Given the description of an element on the screen output the (x, y) to click on. 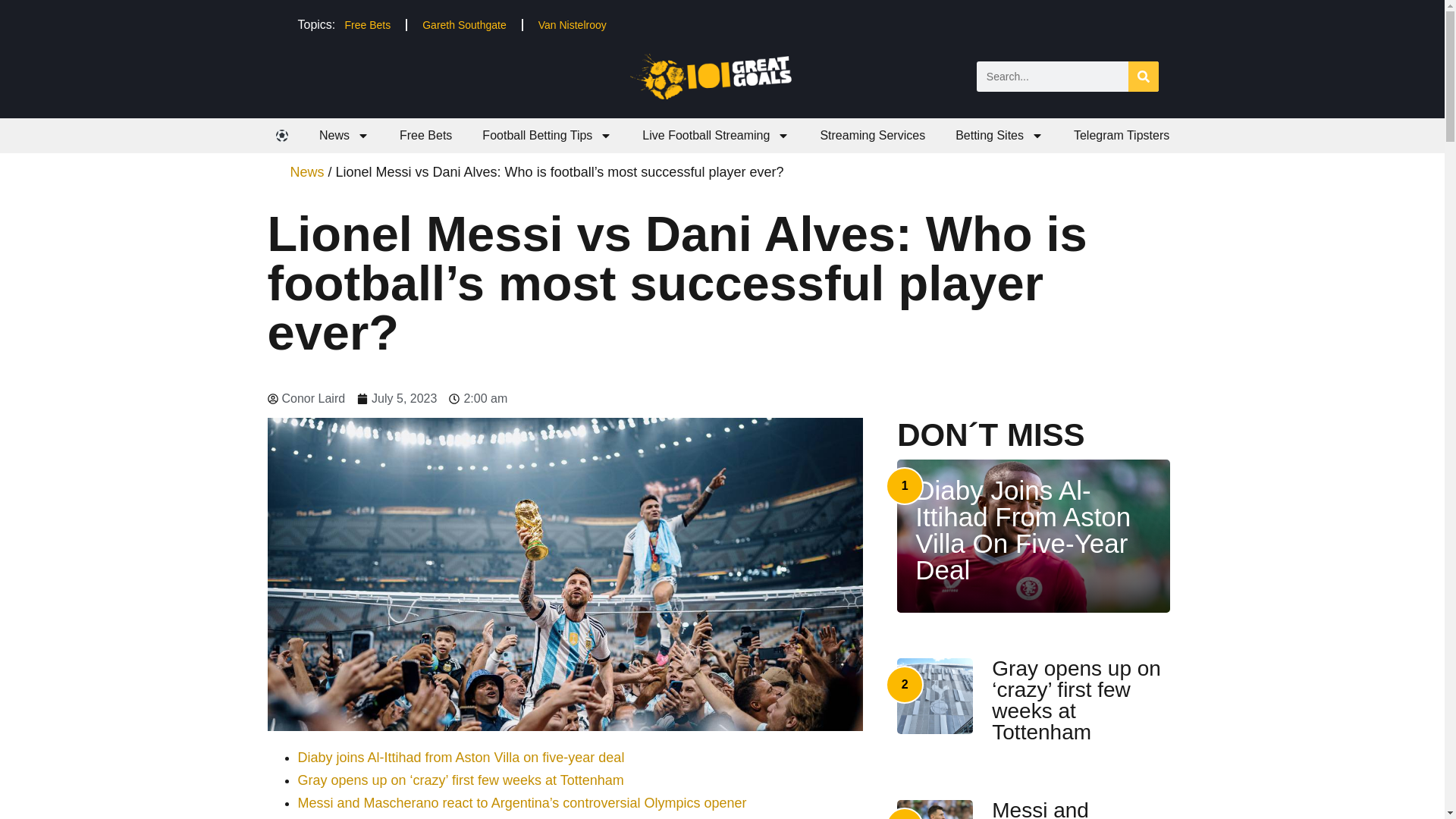
Van Nistelrooy (571, 24)
Streaming Services (872, 135)
Betting Sites (999, 135)
Live Football Streaming (716, 135)
Free Bets (425, 135)
News (344, 135)
Gareth Southgate (464, 24)
Football Betting Tips (547, 135)
Free Bets (367, 24)
